Given the description of an element on the screen output the (x, y) to click on. 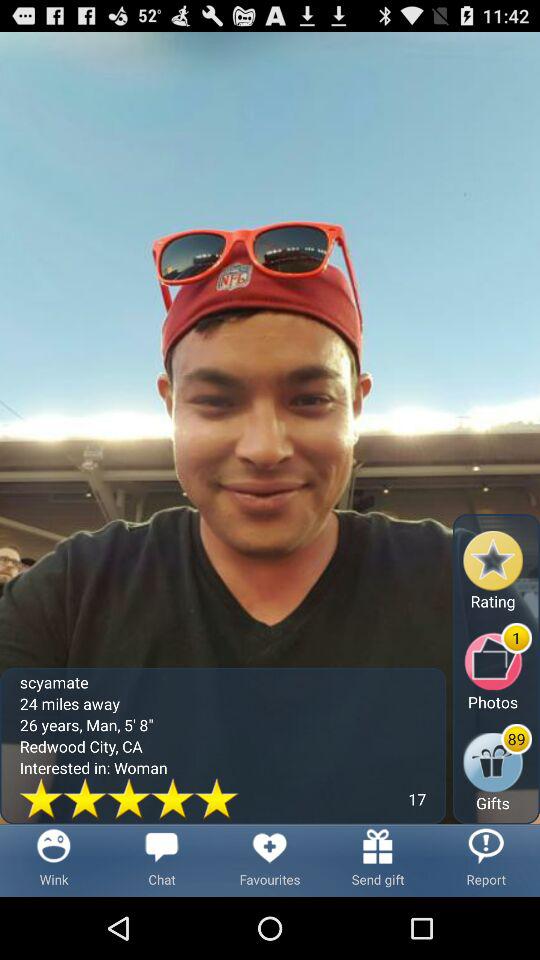
tap icon to the right of wink icon (162, 860)
